Given the description of an element on the screen output the (x, y) to click on. 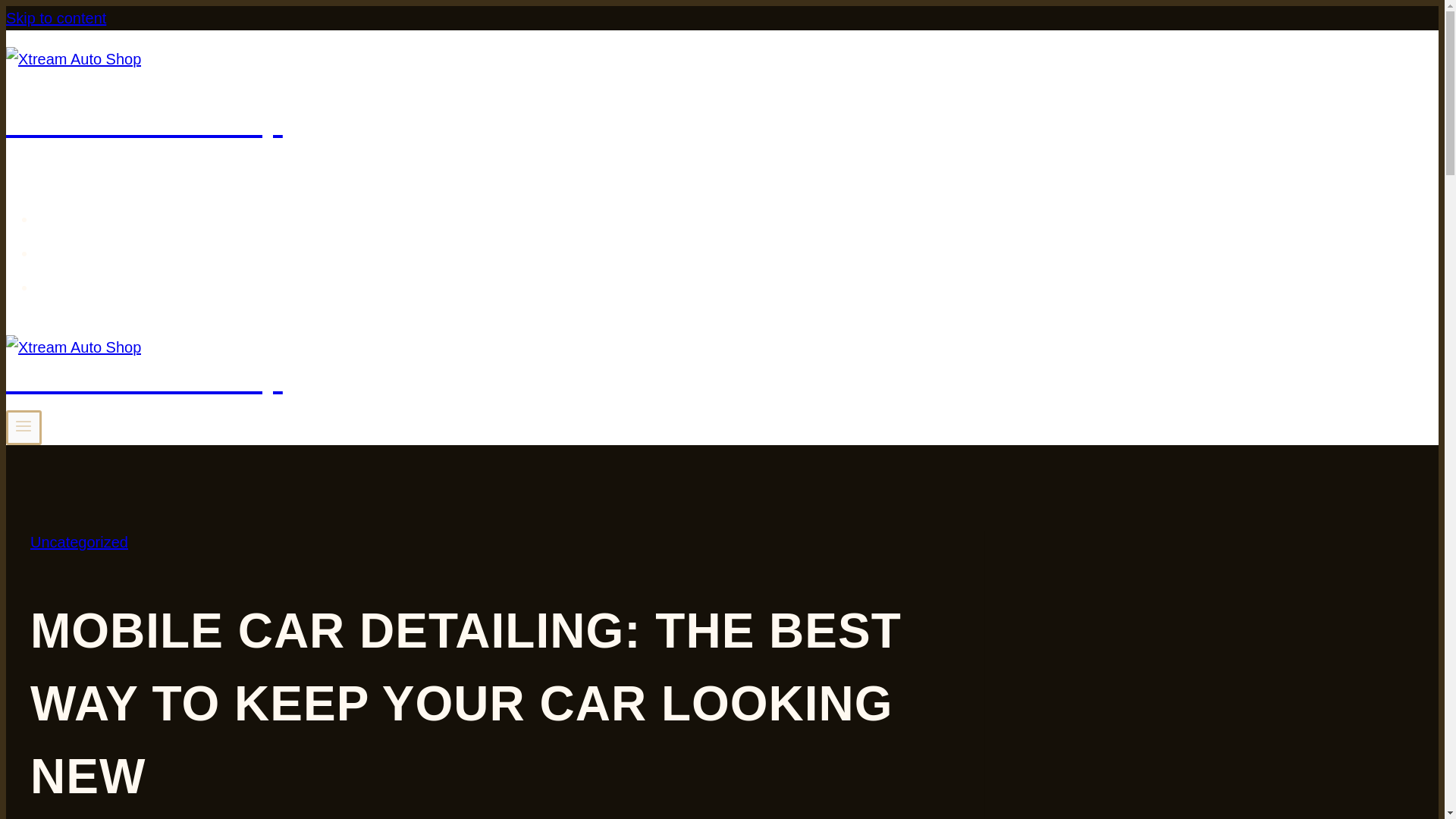
TOGGLE MENU (23, 425)
Skip to content (55, 17)
BLOG (81, 285)
Xtream Auto Shop (494, 368)
ABOUT (89, 251)
Uncategorized (79, 541)
Skip to content (55, 17)
TOGGLE MENU (23, 427)
HOME (84, 217)
Xtream Auto Shop (494, 95)
